Given the description of an element on the screen output the (x, y) to click on. 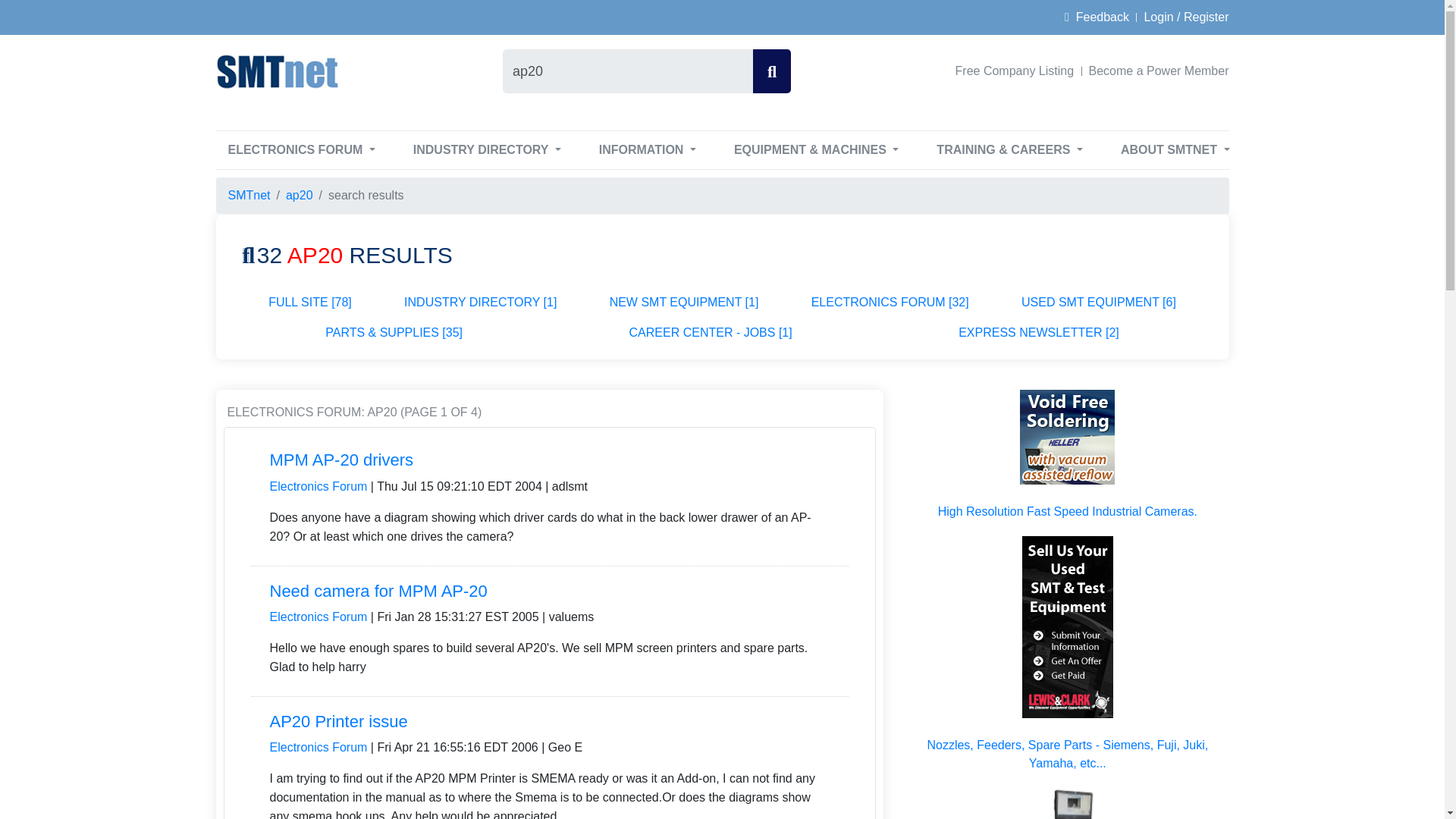
Free Company Listing (1014, 70)
ap20 (627, 71)
Become a Power Member (1154, 70)
  Feedback (1096, 16)
NEW SMT EQUIPMENT - AP20 - 1 (683, 302)
Electronics Forum (318, 616)
EXPRESS NEWSLETTER - AP20 - 2 (1038, 332)
FULL SITE - AP20 - 78 (310, 302)
INDUSTRY DIRECTORY - AP20 - 1 (480, 302)
MPM AP-20 drivers (341, 459)
ap20 (627, 71)
Electronics Forum (318, 486)
CAREER CENTER - JOBS - AP20 - 1 (711, 332)
Electronics Forum (318, 747)
AP20 Printer issue (338, 721)
